Given the description of an element on the screen output the (x, y) to click on. 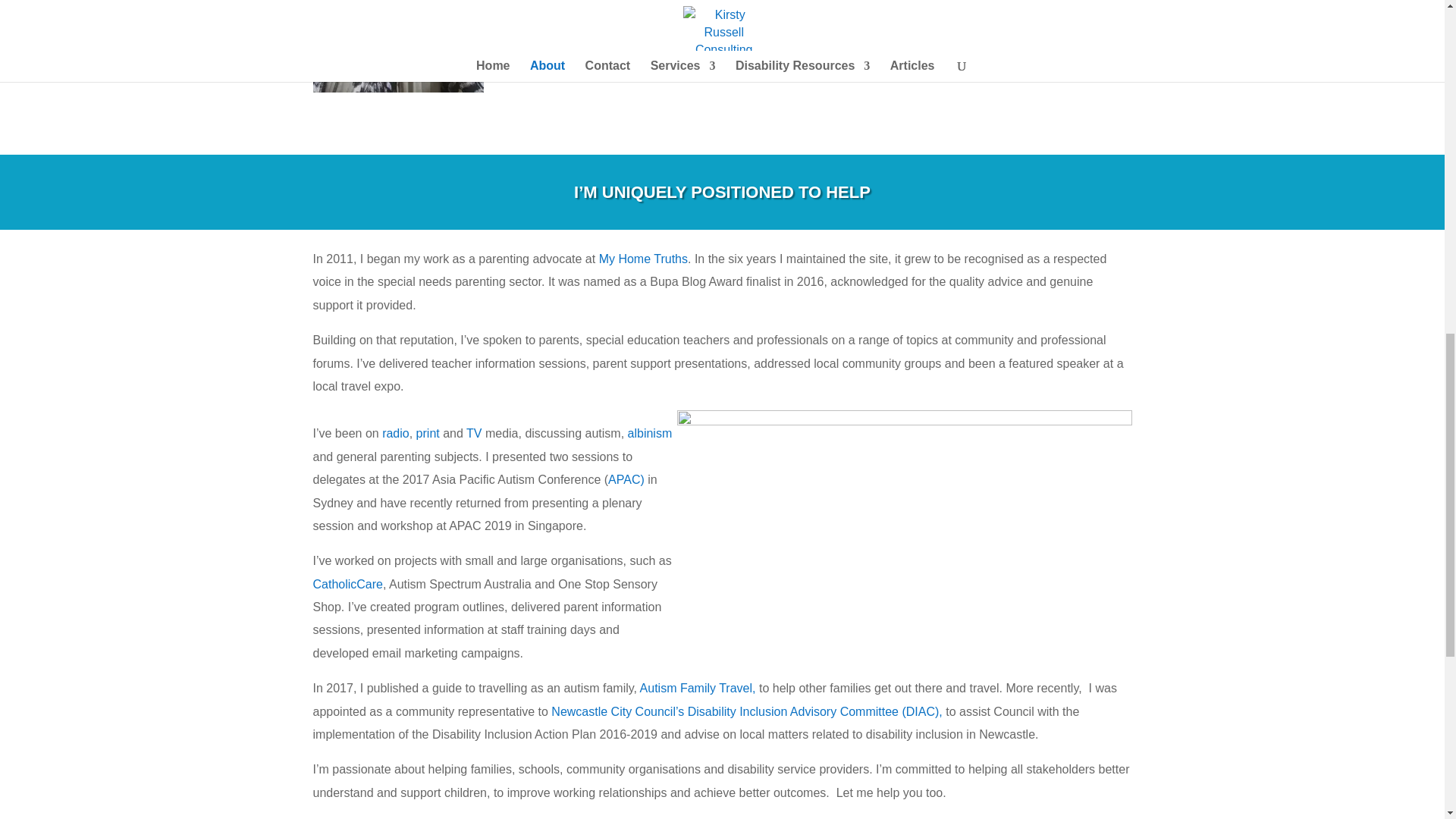
radio (395, 432)
print (427, 432)
albinism (649, 432)
TV (473, 432)
Autism Family Travel, (699, 687)
CatholicCare (347, 584)
My Home Truths (642, 258)
